Given the description of an element on the screen output the (x, y) to click on. 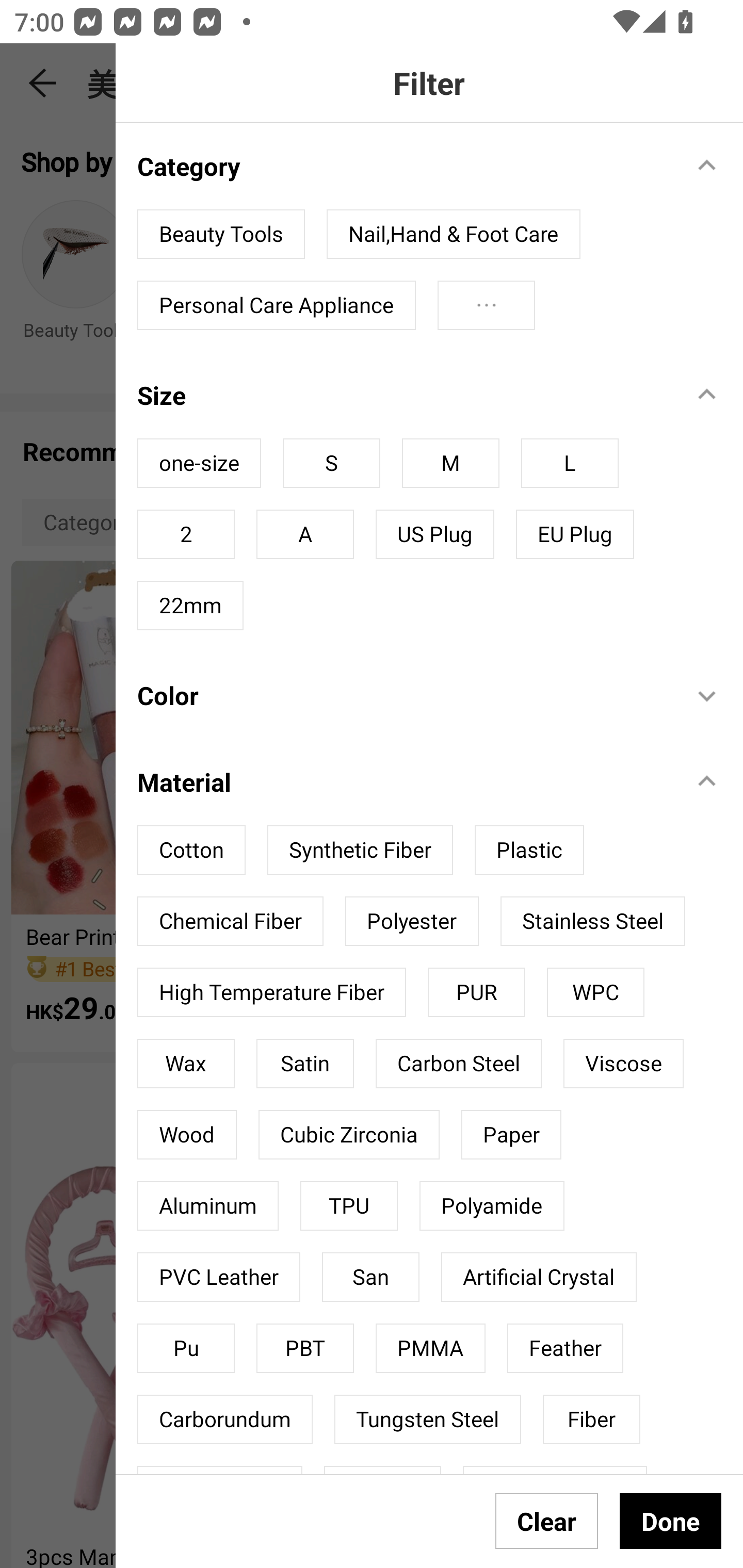
Category (403, 166)
Beauty Tools (220, 234)
Nail,Hand & Foot Care (453, 234)
Personal Care Appliance (276, 305)
Size (403, 395)
one-size (198, 463)
S (331, 463)
M (450, 463)
L (569, 463)
2 (185, 534)
A (304, 534)
US Plug (434, 534)
EU Plug (574, 534)
22mm (190, 605)
Color (403, 695)
Material (403, 781)
Cotton (191, 849)
Synthetic Fiber (360, 849)
Plastic (528, 849)
Chemical Fiber (230, 920)
Polyester (411, 920)
Stainless Steel (592, 920)
High Temperature Fiber (271, 992)
PUR (476, 992)
WPC (595, 992)
Wax (185, 1063)
Satin (304, 1063)
Carbon Steel (458, 1063)
Viscose (623, 1063)
Wood (187, 1134)
Cubic Zirconia (348, 1134)
Paper (511, 1134)
Aluminum (207, 1205)
TPU (348, 1205)
Polyamide (491, 1205)
PVC Leather (218, 1276)
San (370, 1276)
Artificial Crystal (538, 1276)
Pu (185, 1348)
PBT (304, 1348)
PMMA (430, 1348)
Feather (565, 1348)
Carborundum (224, 1418)
Tungsten Steel (427, 1418)
Fiber (591, 1418)
Clear (546, 1520)
Done (670, 1520)
